Given the description of an element on the screen output the (x, y) to click on. 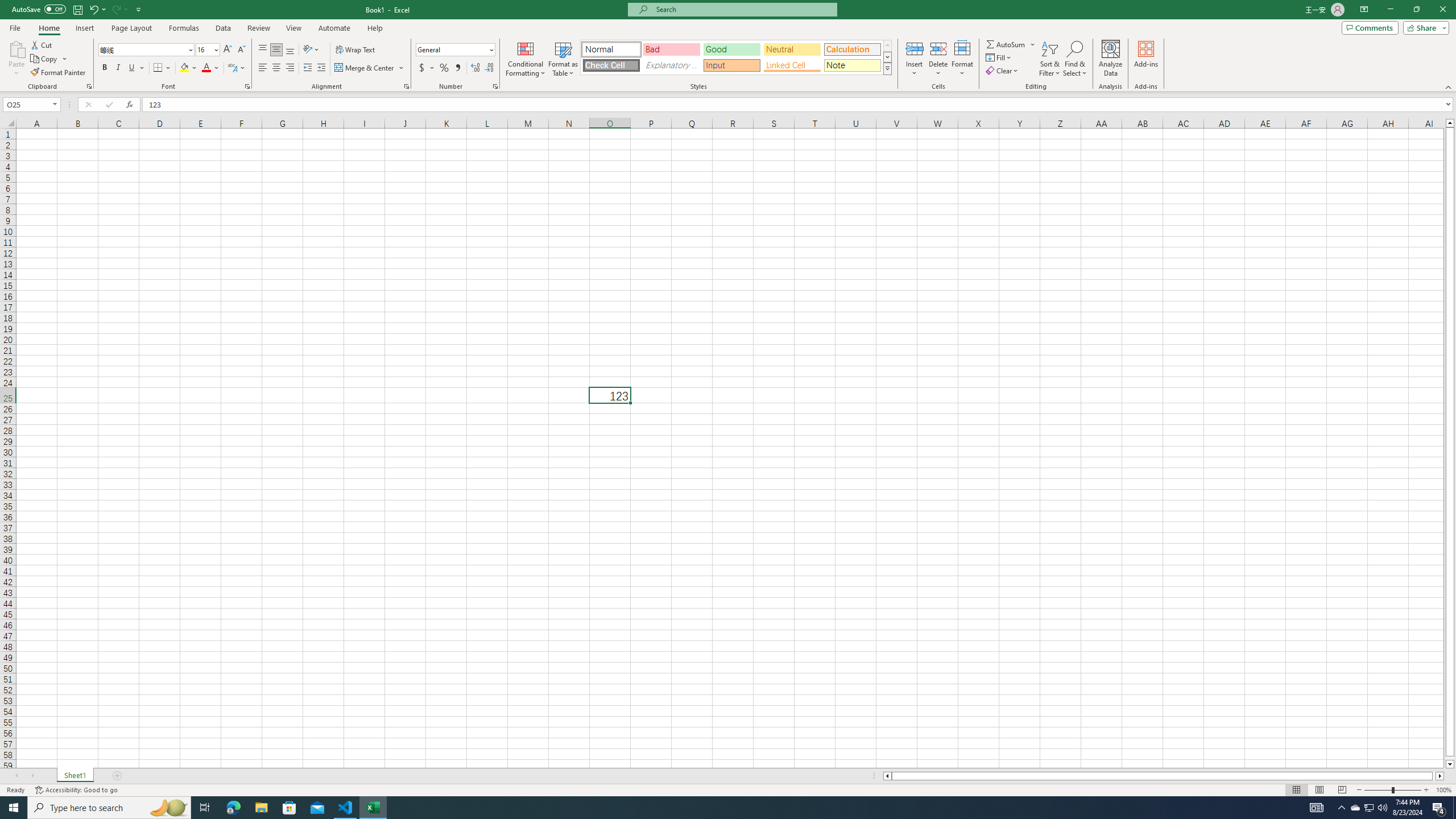
Decrease Decimal (489, 67)
Explanatory Text (671, 65)
Bad (671, 49)
Increase Indent (320, 67)
Format as Table (563, 58)
Merge & Center (369, 67)
Fill Color (188, 67)
Align Left (262, 67)
